Given the description of an element on the screen output the (x, y) to click on. 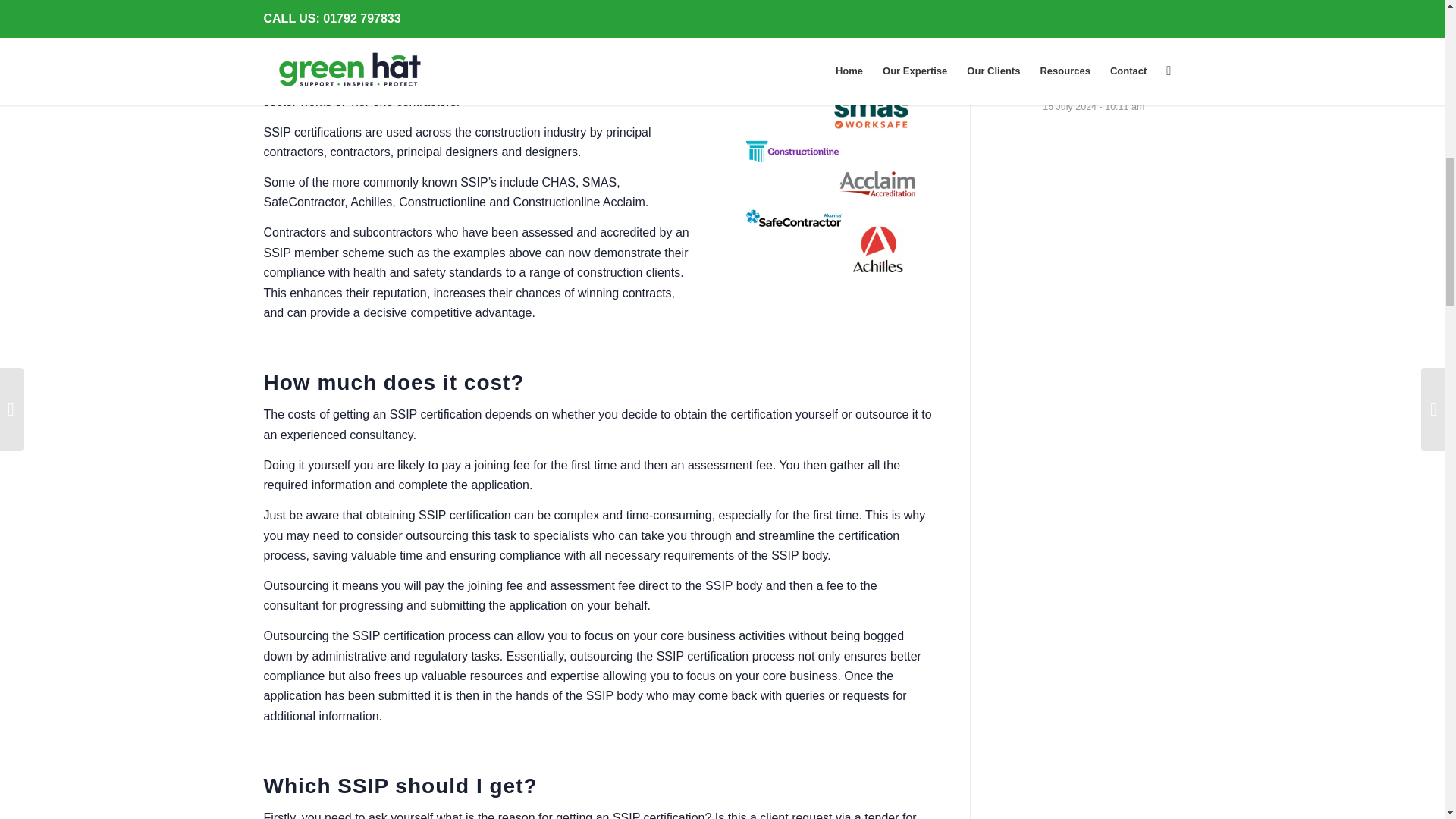
Companies fined after 16-year-old worker exposed to asbestos (1094, 18)
